Given the description of an element on the screen output the (x, y) to click on. 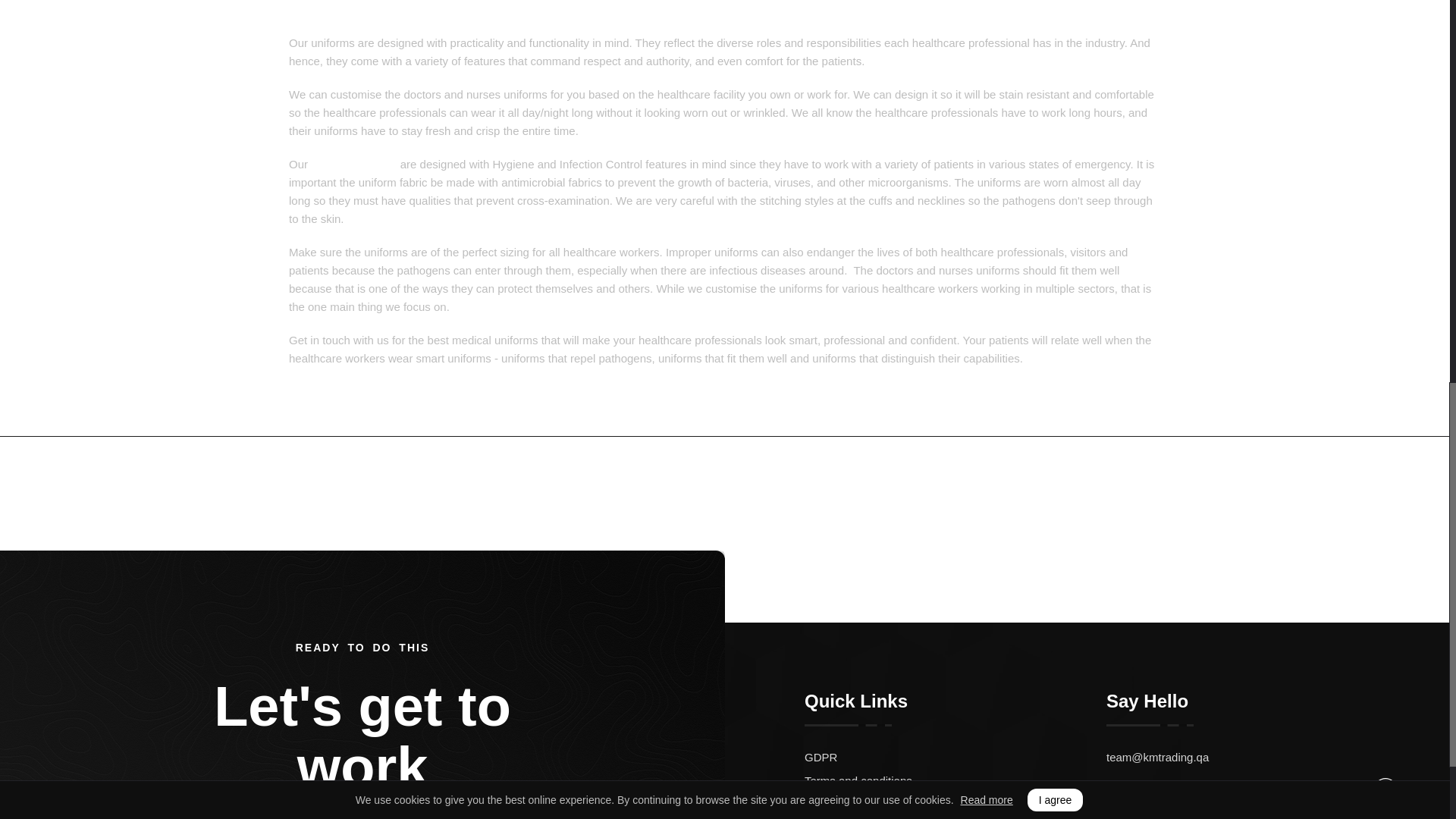
medical uniforms (353, 164)
Contact (1103, 491)
Terms and conditions (955, 780)
GDPR (955, 757)
Privacy Policy (955, 803)
